Given the description of an element on the screen output the (x, y) to click on. 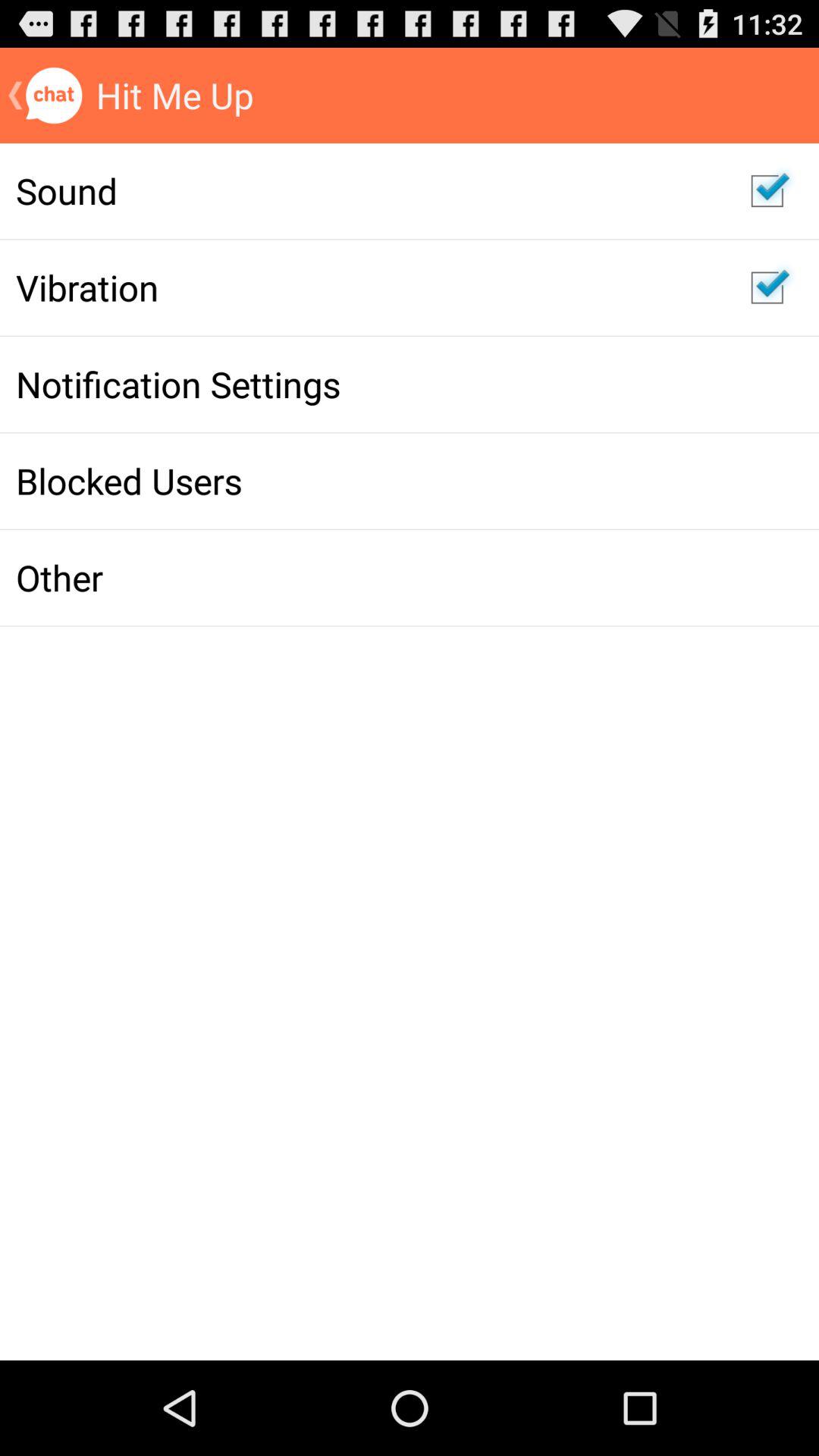
turn off blocked users icon (367, 480)
